Given the description of an element on the screen output the (x, y) to click on. 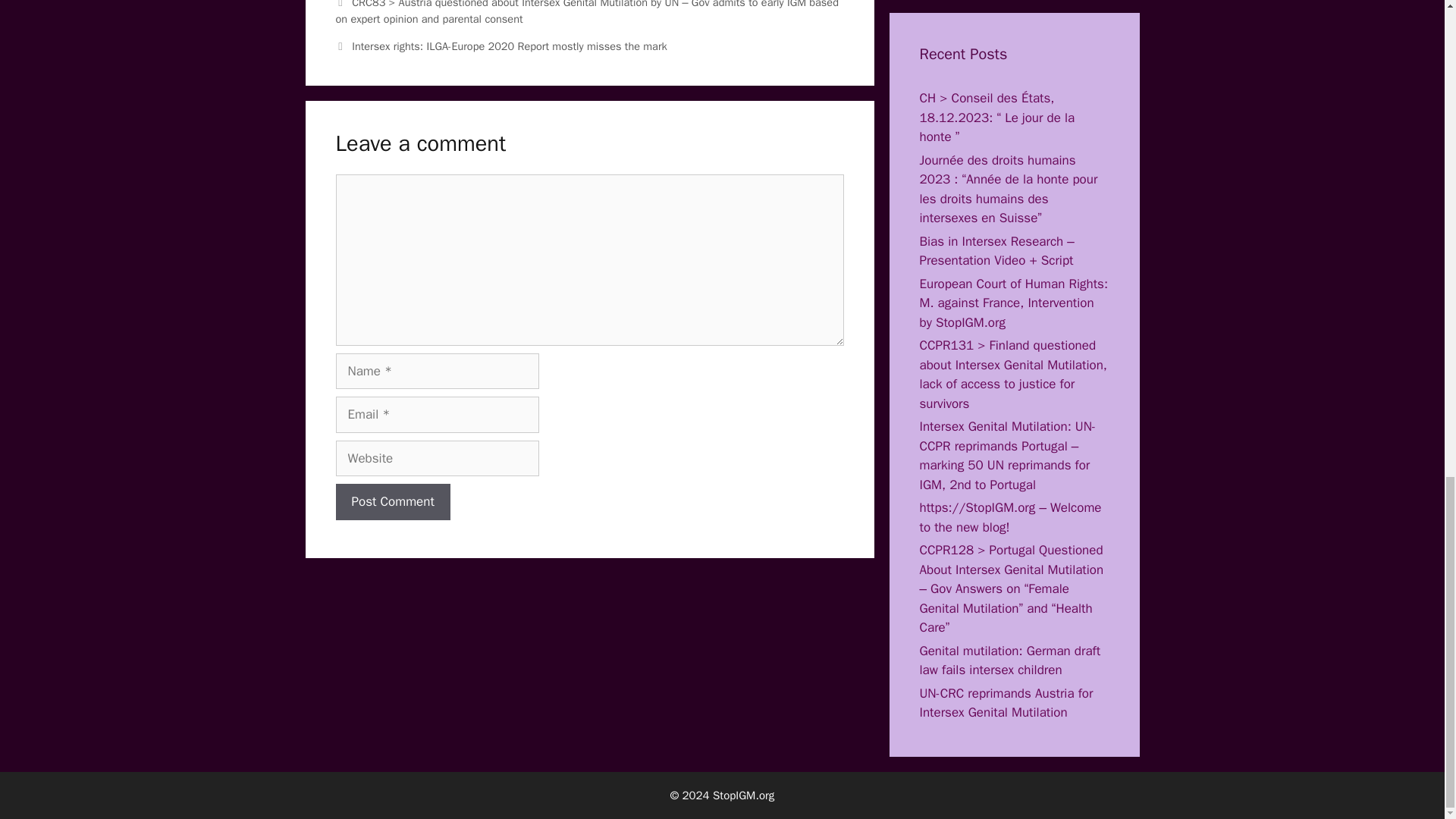
Post Comment (391, 502)
Scroll back to top (1406, 387)
Post Comment (391, 502)
